Given the description of an element on the screen output the (x, y) to click on. 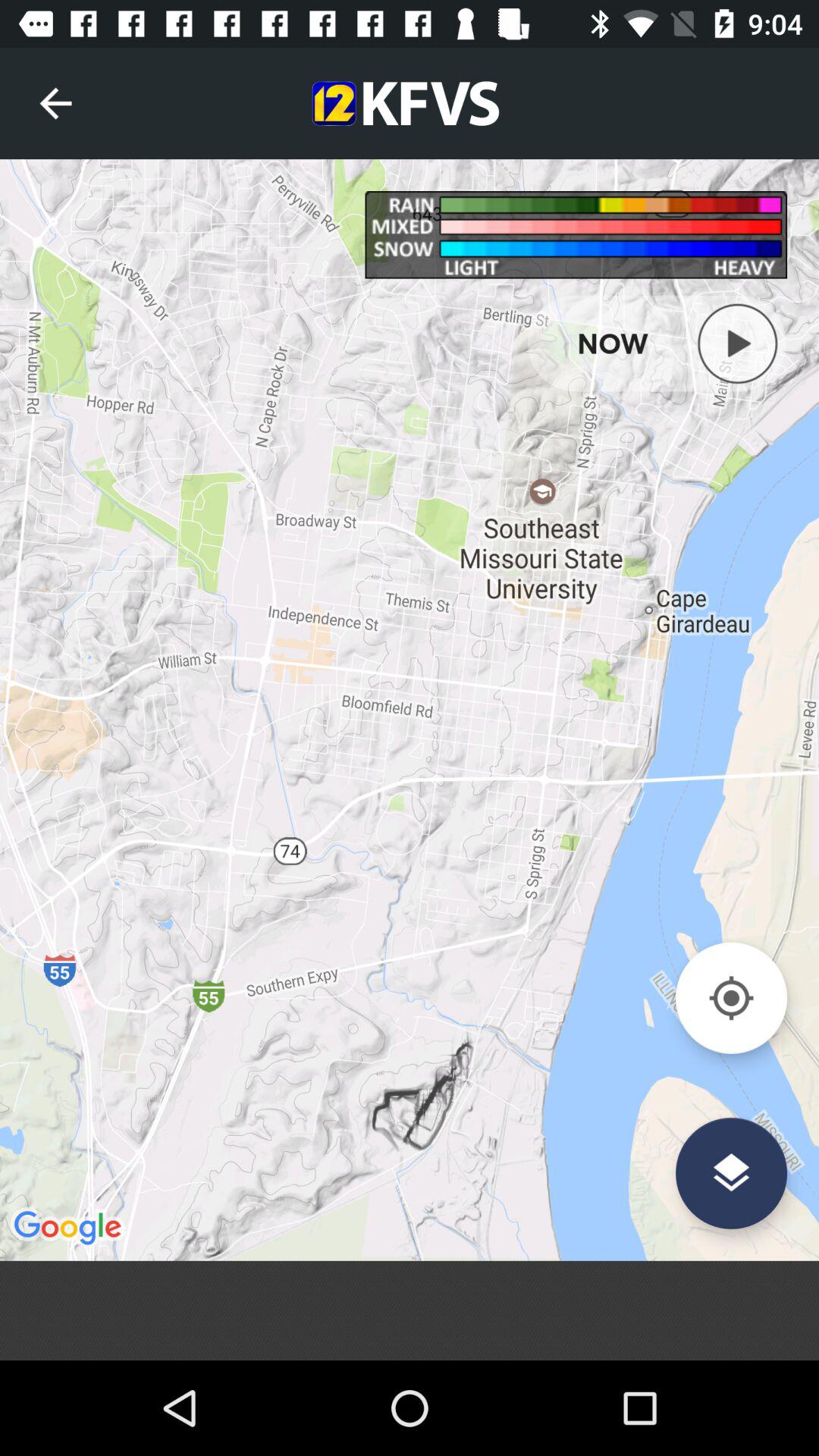
find current location (731, 997)
